Given the description of an element on the screen output the (x, y) to click on. 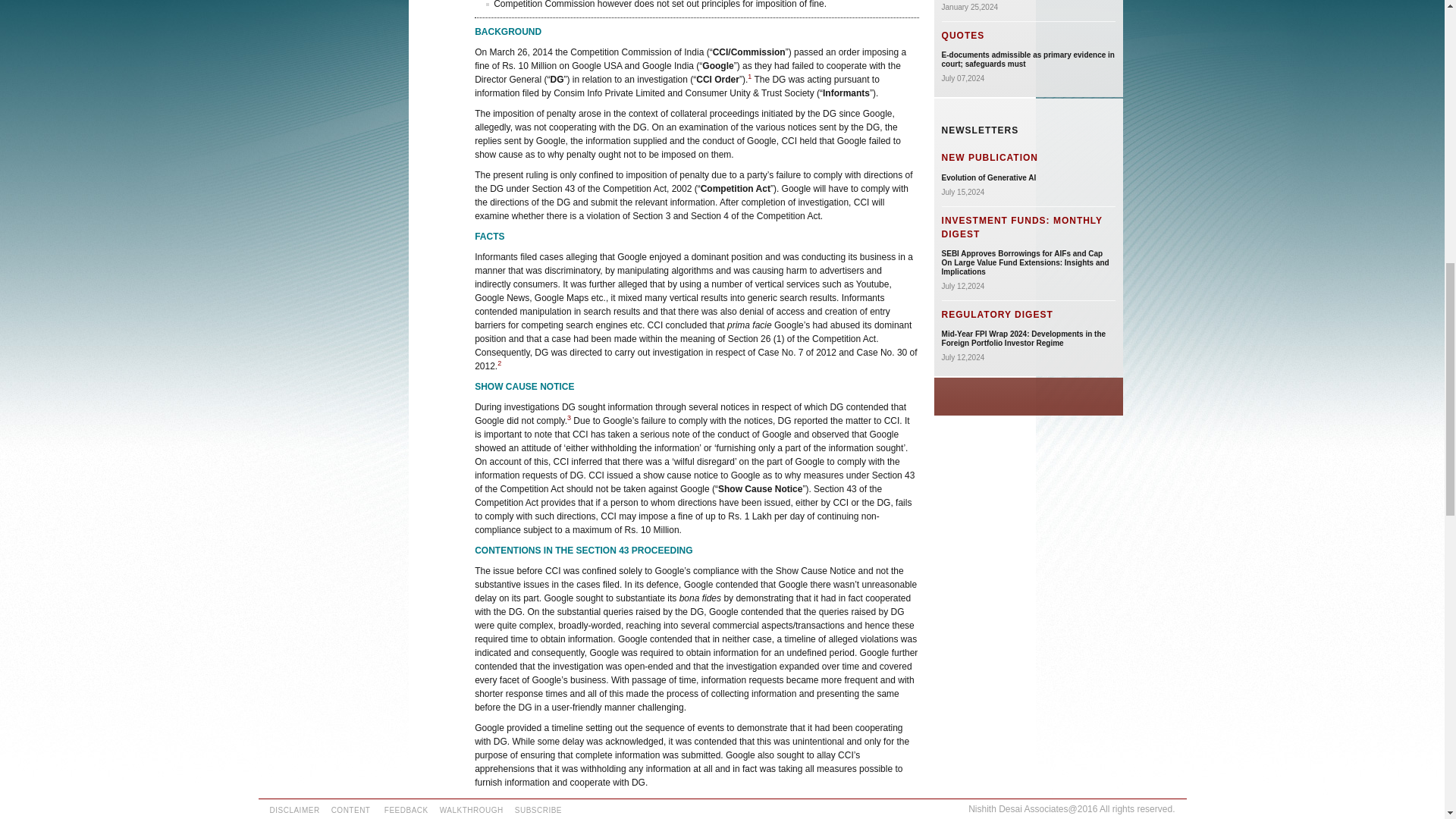
Evolution of Generative AI (989, 177)
